Given the description of an element on the screen output the (x, y) to click on. 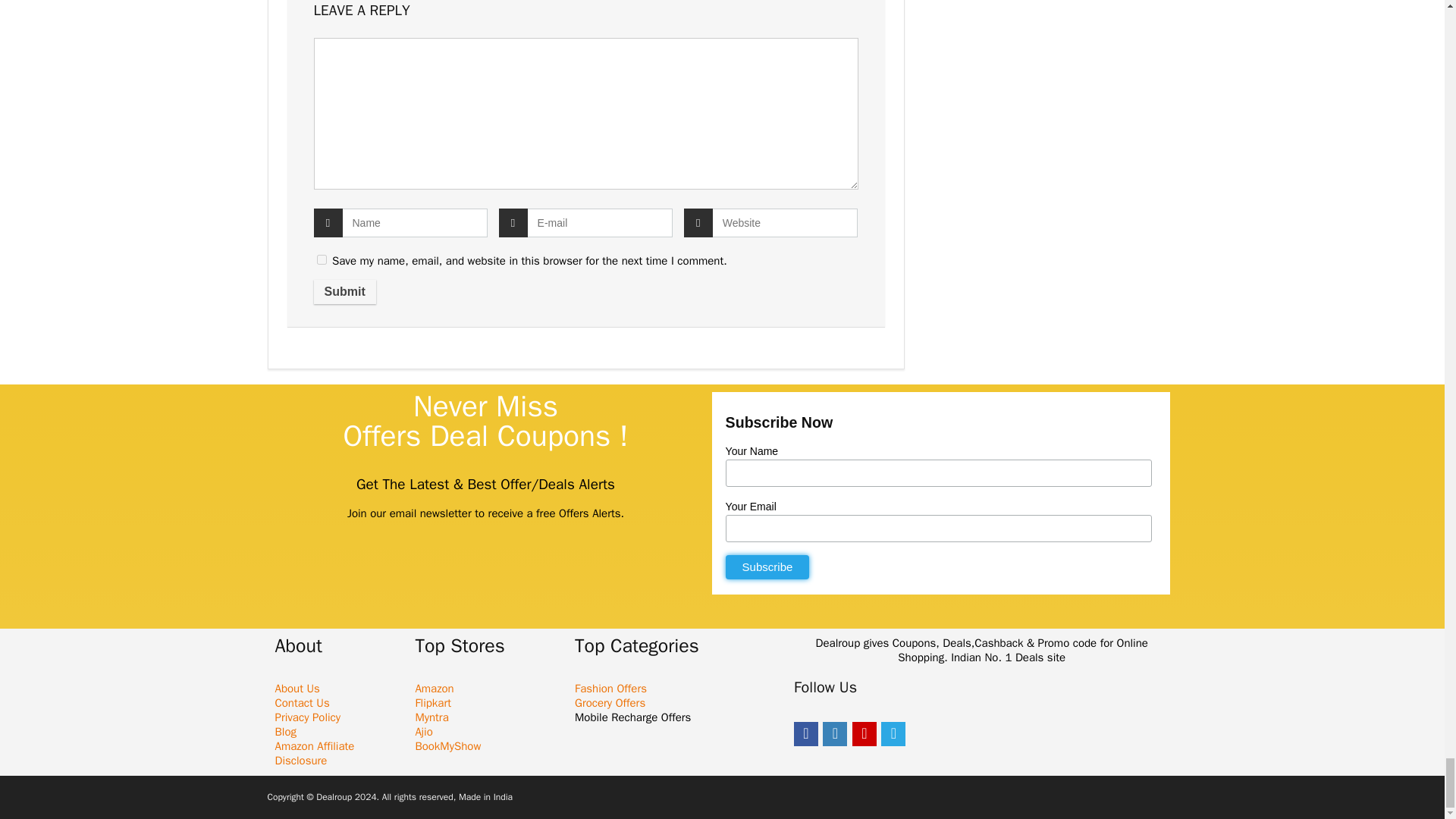
Submit (344, 291)
yes (321, 259)
Subscribe (767, 567)
